Given the description of an element on the screen output the (x, y) to click on. 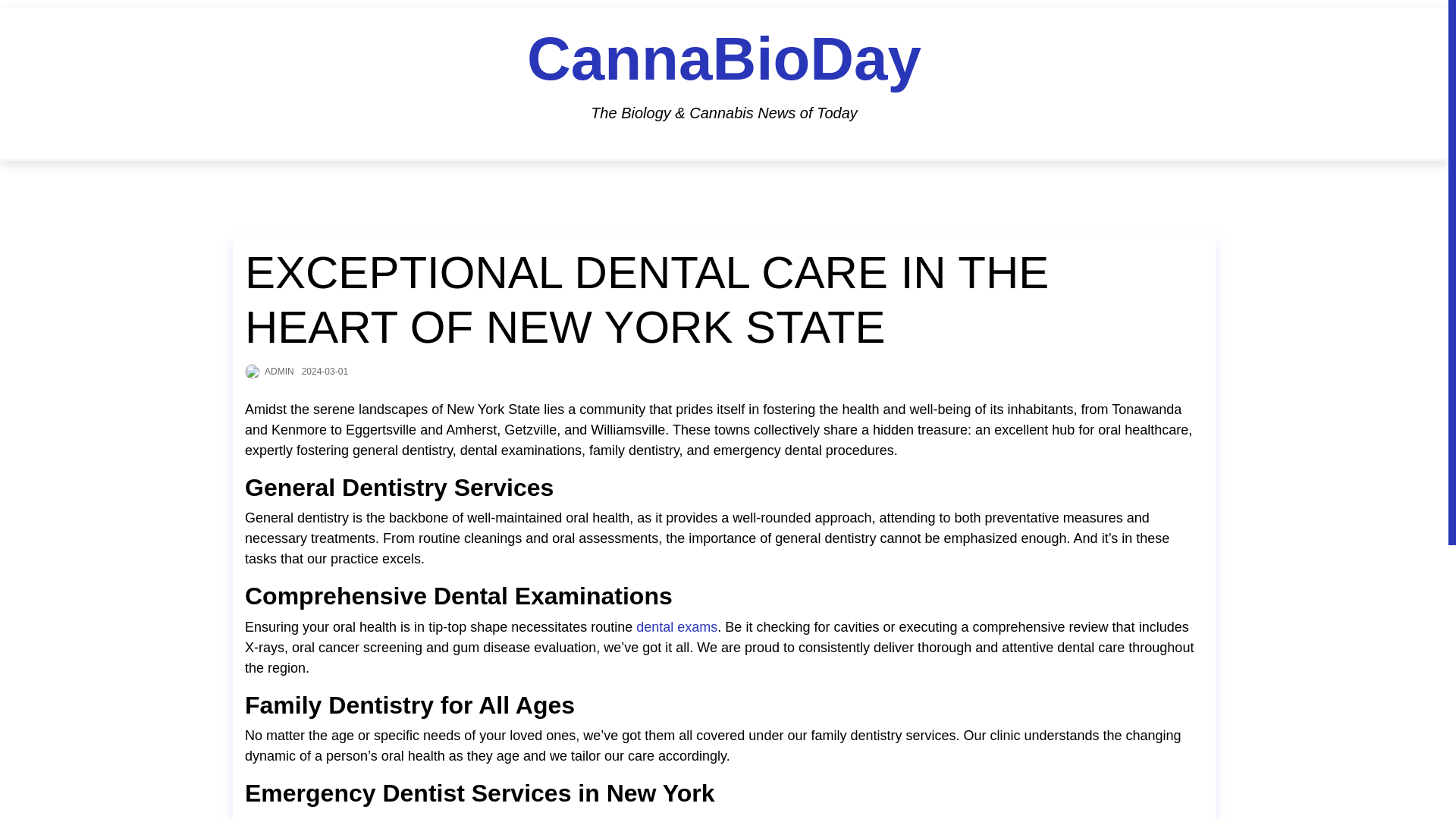
CannaBioDay (724, 58)
dental exams (676, 627)
ADMIN (279, 370)
